Given the description of an element on the screen output the (x, y) to click on. 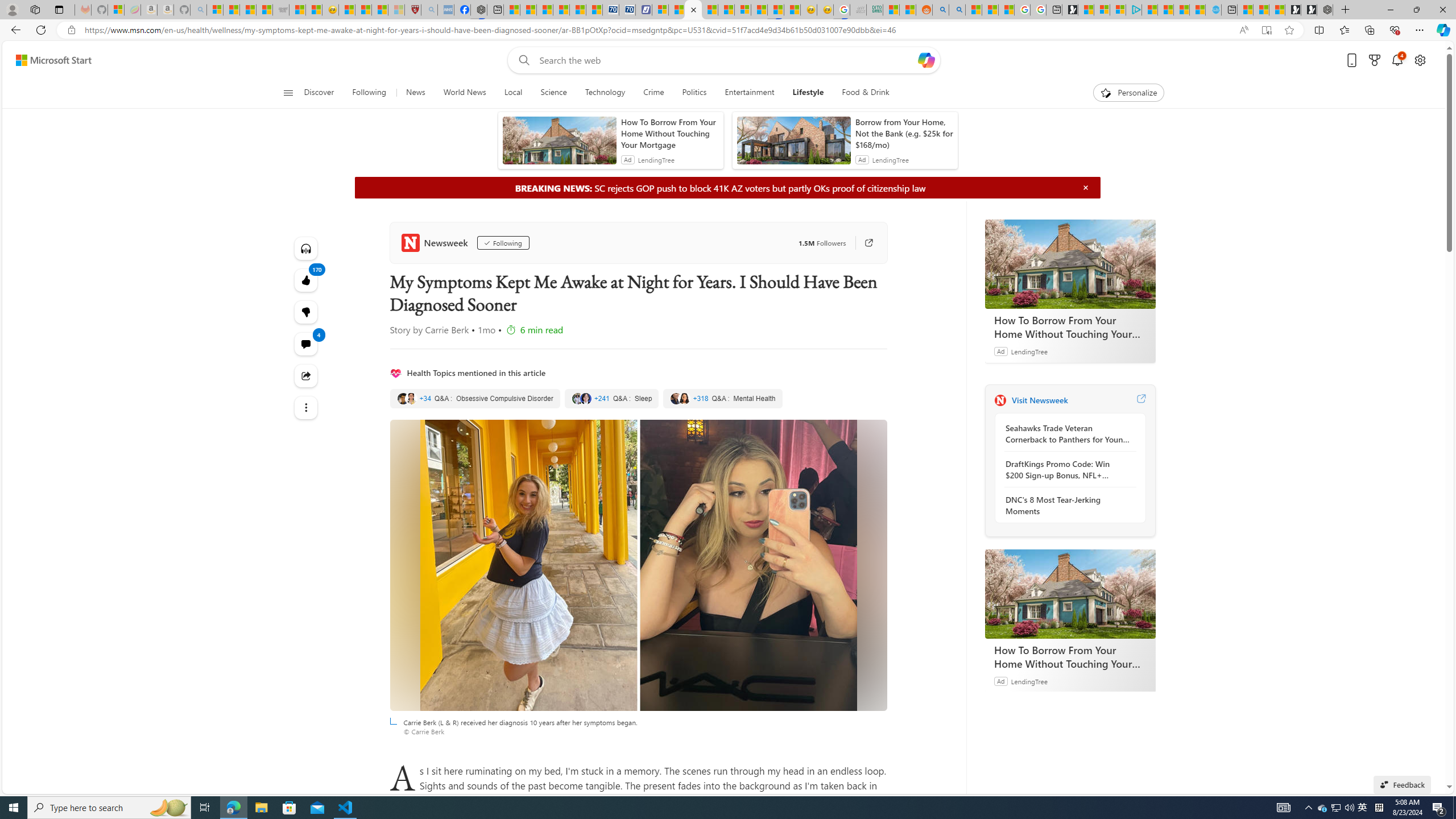
World News (464, 92)
News (414, 92)
Trusted Community Engagement and Contributions | Guidelines (726, 9)
Enter Immersive Reader (F9) (1266, 29)
Skip to footer (46, 59)
